Given the description of an element on the screen output the (x, y) to click on. 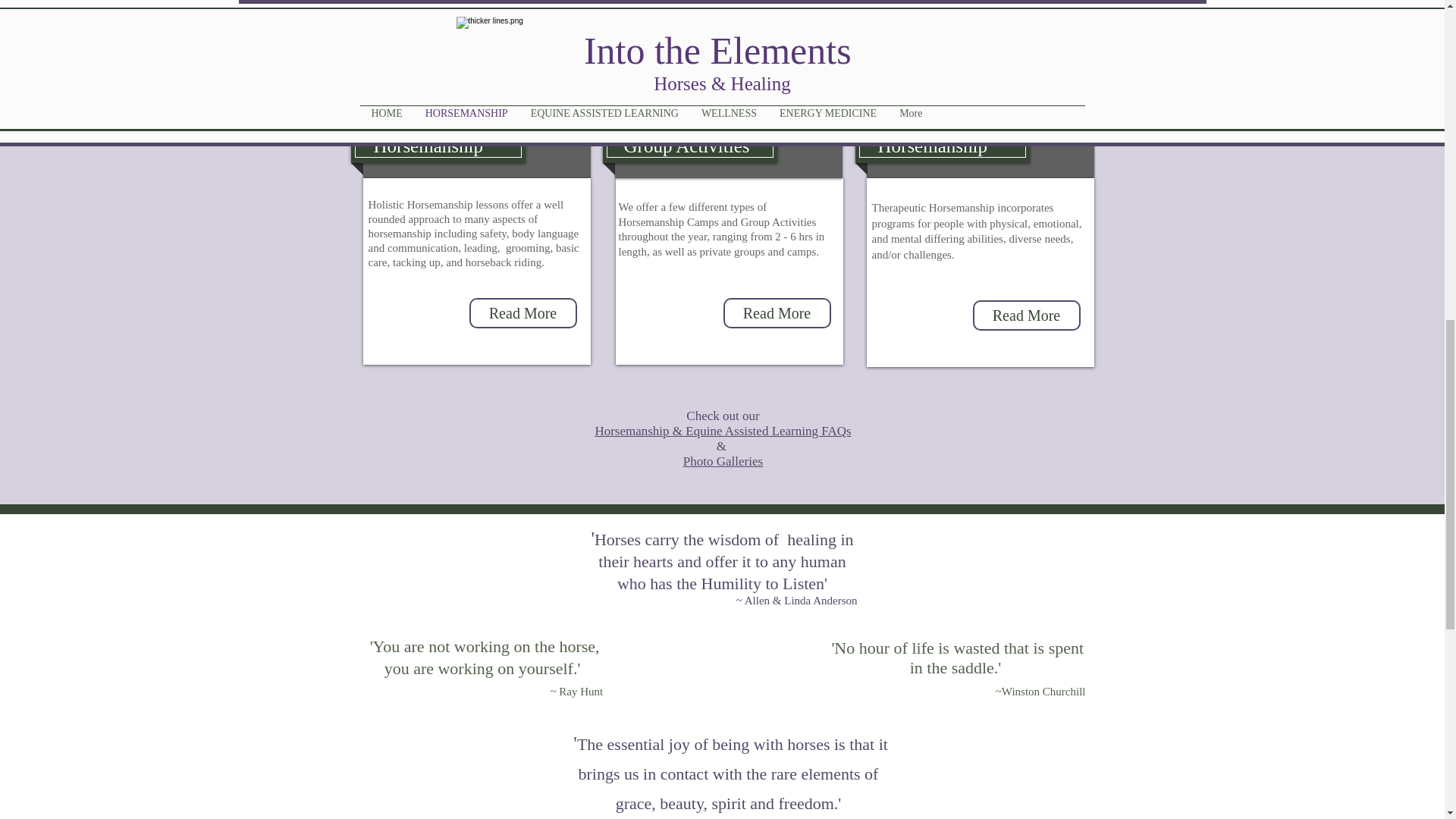
Check out our (721, 415)
Read More (777, 313)
Read More (1026, 315)
Read More (522, 313)
Photo Galleries (722, 461)
